Given the description of an element on the screen output the (x, y) to click on. 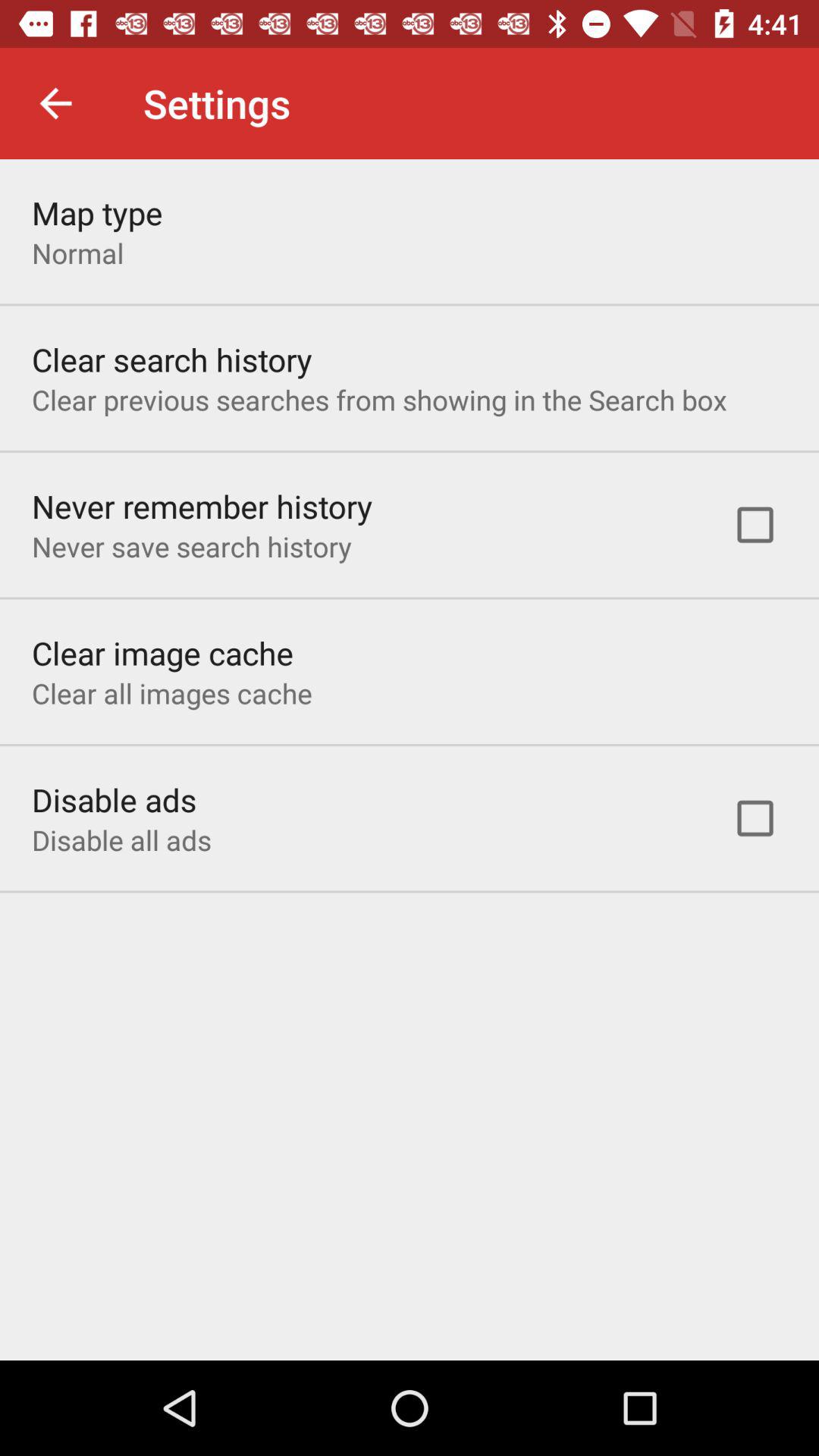
choose the clear all images item (171, 693)
